Given the description of an element on the screen output the (x, y) to click on. 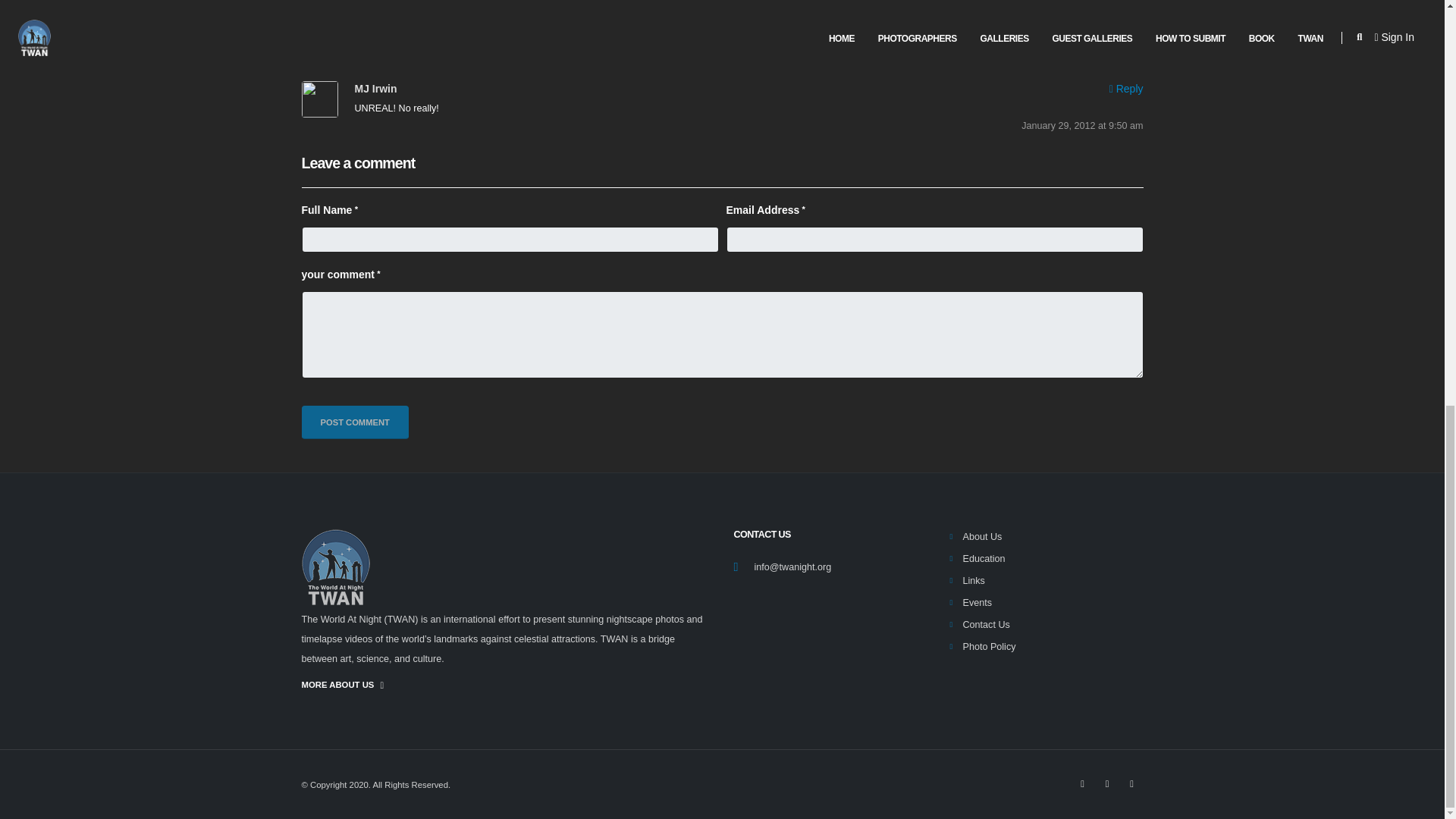
instagram (1082, 783)
Post Comment (355, 421)
twitter (1107, 783)
facebook (1131, 783)
